Given the description of an element on the screen output the (x, y) to click on. 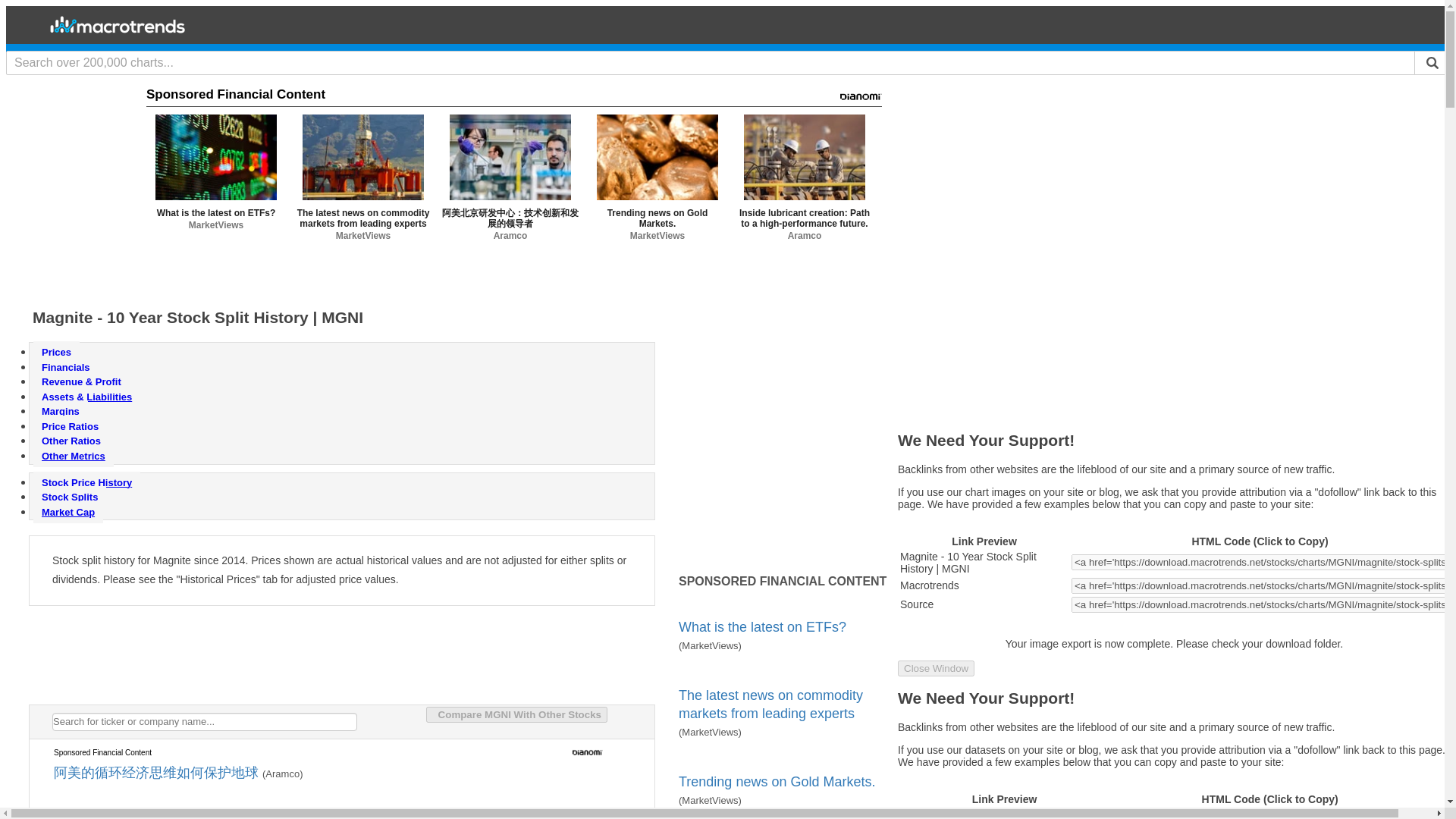
Stock Splits (69, 496)
Other Ratios (71, 440)
Prices (56, 352)
Market Cap (68, 512)
MacroTrends Home Page (116, 32)
Margins (60, 411)
Other Metrics (73, 455)
  Compare MGNI With Other Stocks (516, 714)
Stock Price History (86, 482)
Financials (66, 367)
Price Ratios (69, 426)
